Given the description of an element on the screen output the (x, y) to click on. 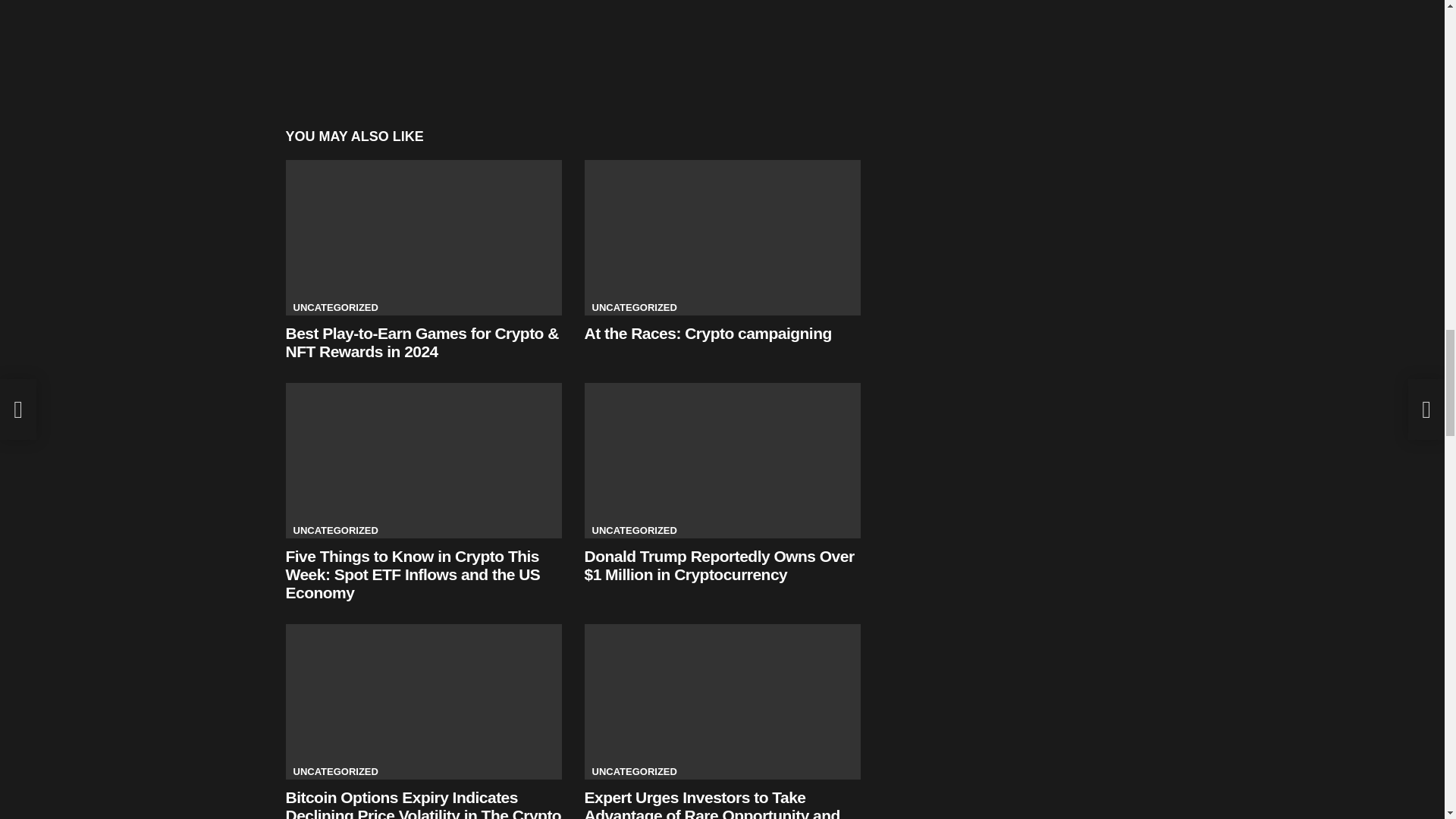
At the Races: Crypto campaigning (721, 237)
